Given the description of an element on the screen output the (x, y) to click on. 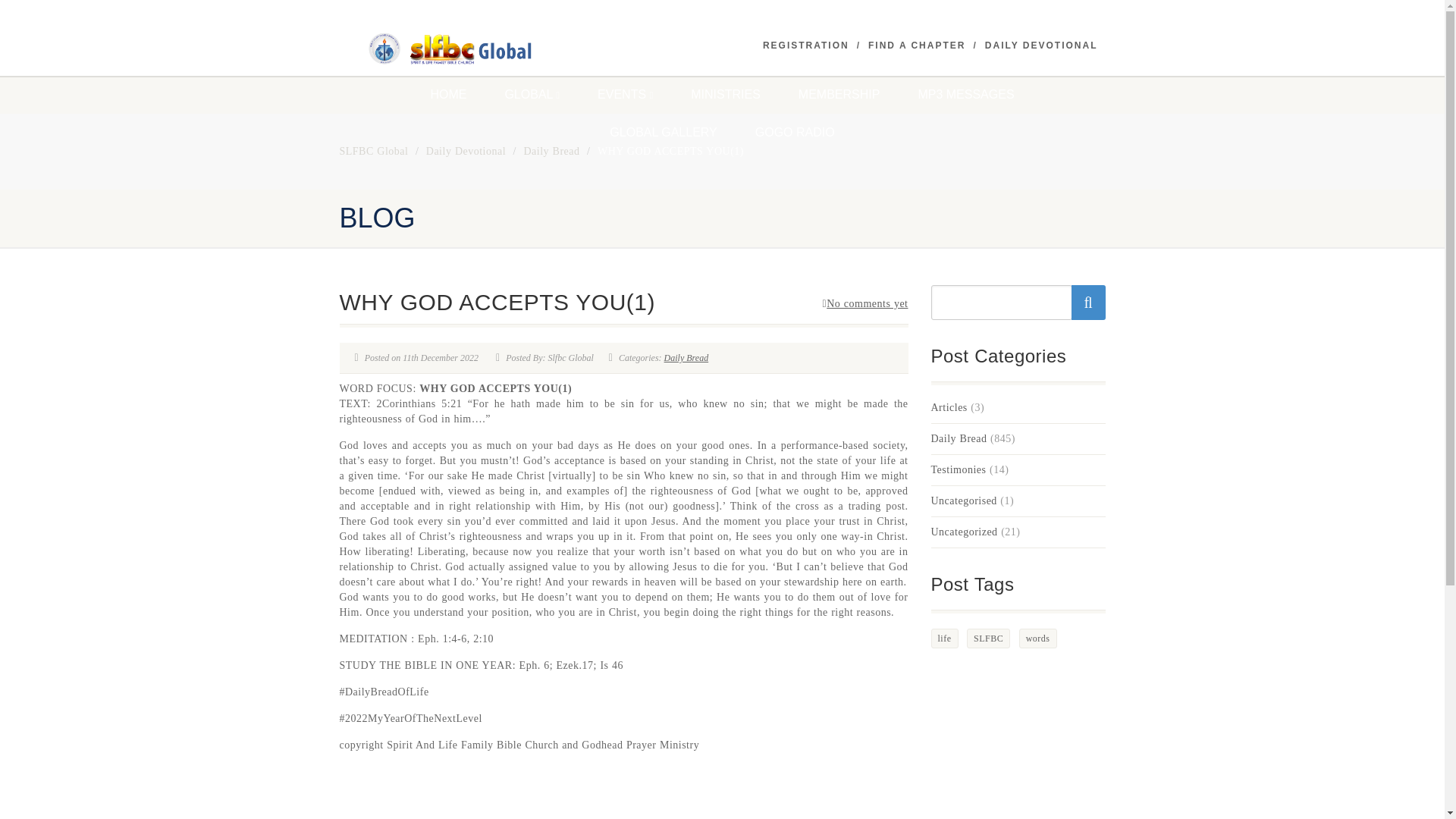
Go to Daily Devotional. (465, 151)
Daily Bread (550, 151)
DAILY DEVOTIONAL (1041, 45)
GLOBAL GALLERY (663, 132)
SLFBC (459, 48)
MP3 MESSAGES (965, 94)
Daily Devotional (465, 151)
SLFBC Global (374, 151)
GOGO RADIO (794, 132)
HOME (447, 94)
